Given the description of an element on the screen output the (x, y) to click on. 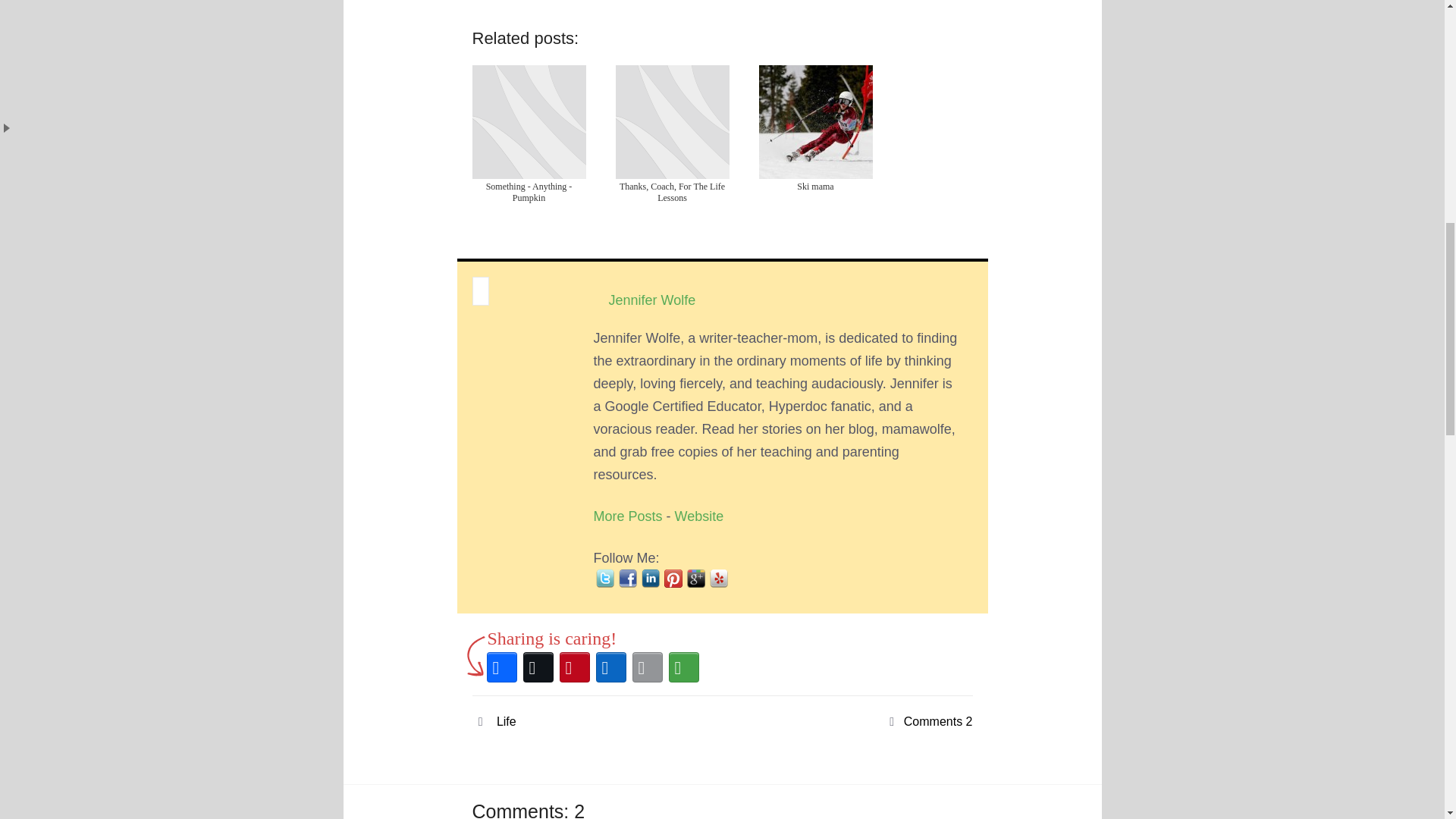
More posts by Jennifer Wolfe (627, 516)
Life (506, 721)
Facebook (501, 667)
Jennifer Wolfe (651, 296)
Website (699, 516)
Pinterest (574, 667)
LinkedIn (610, 667)
Email This (646, 667)
More Options (683, 667)
Jennifer Wolfe (651, 296)
More Posts (627, 516)
Comments 2 (938, 721)
Jennifer Wolfe (699, 516)
